Given the description of an element on the screen output the (x, y) to click on. 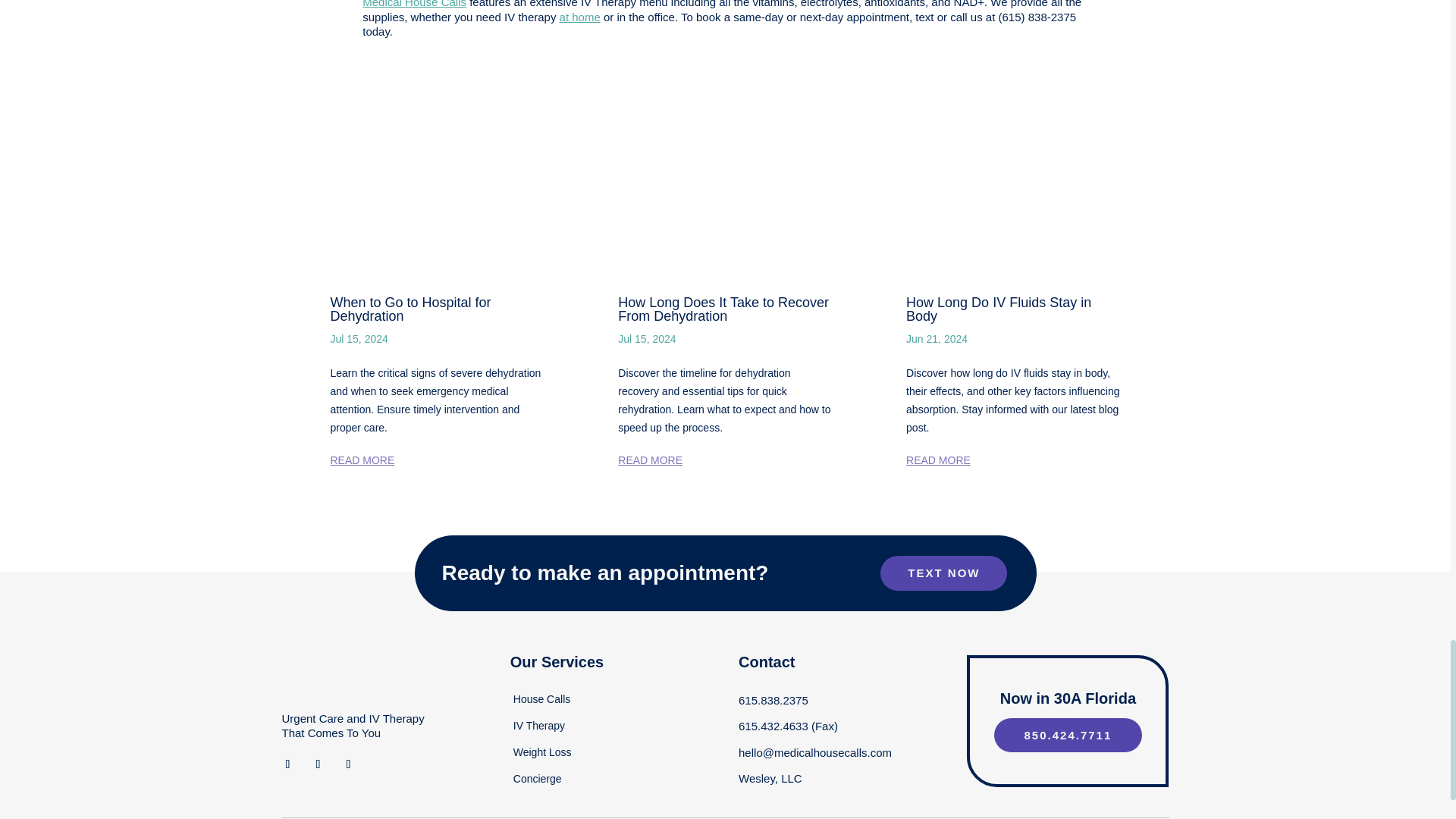
Follow on Instagram (317, 764)
Follow on LinkedIn (348, 764)
Follow on Facebook (287, 764)
